Given the description of an element on the screen output the (x, y) to click on. 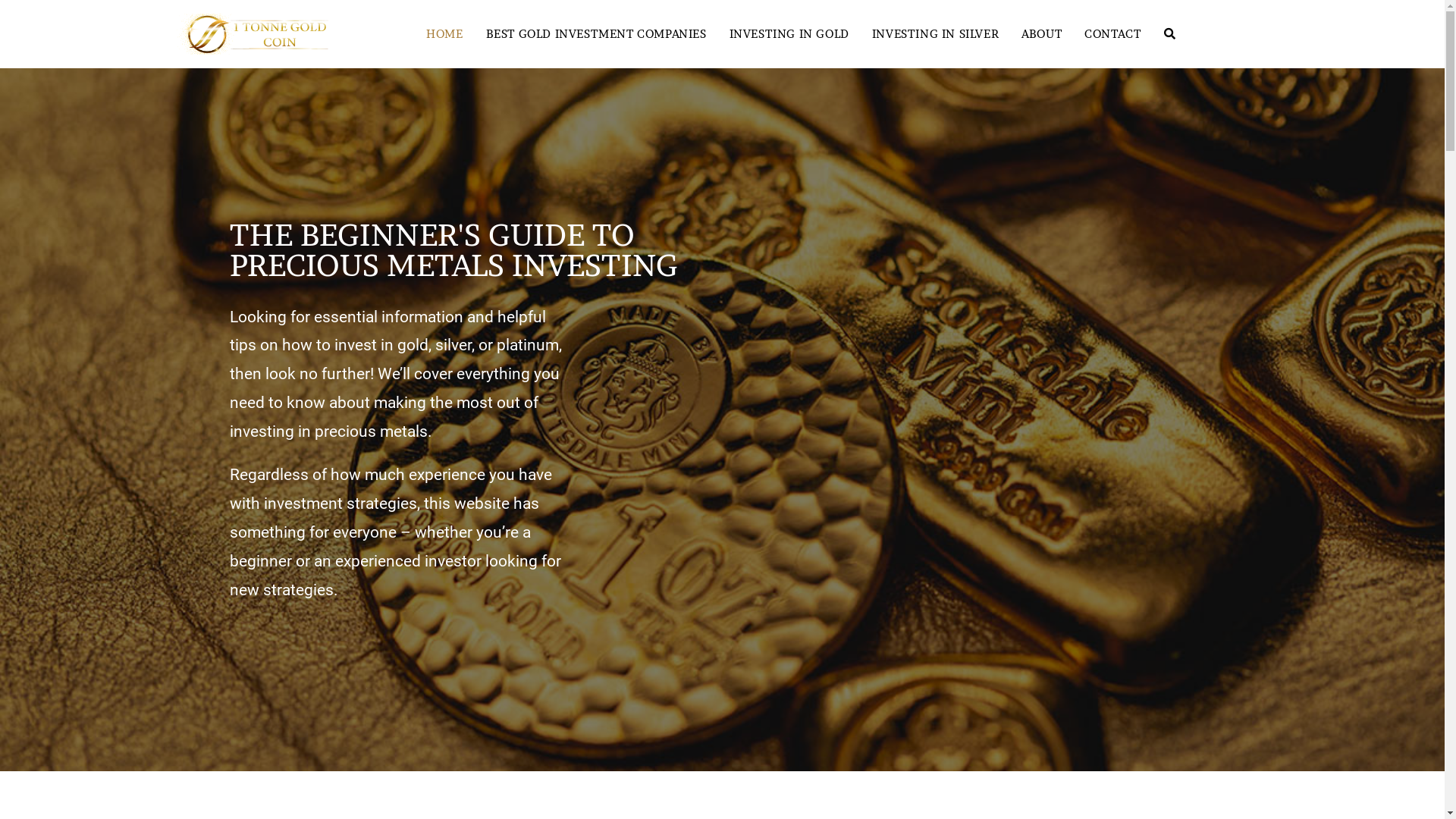
CONTACT Element type: text (1112, 34)
ABOUT Element type: text (1041, 34)
HOME Element type: text (443, 34)
INVESTING IN GOLD Element type: text (789, 34)
INVESTING IN SILVER Element type: text (935, 34)
BEST GOLD INVESTMENT COMPANIES Element type: text (596, 34)
